Given the description of an element on the screen output the (x, y) to click on. 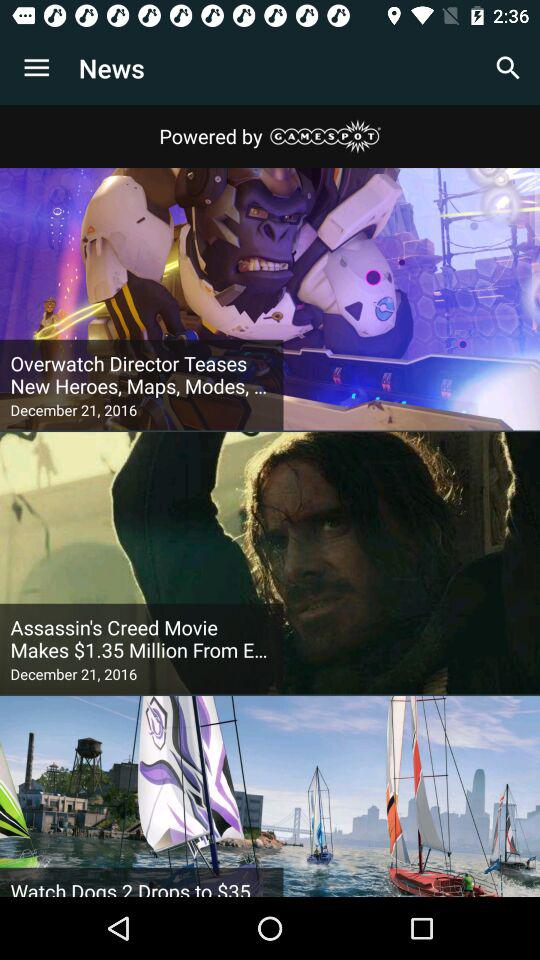
turn on the app next to news (36, 68)
